Given the description of an element on the screen output the (x, y) to click on. 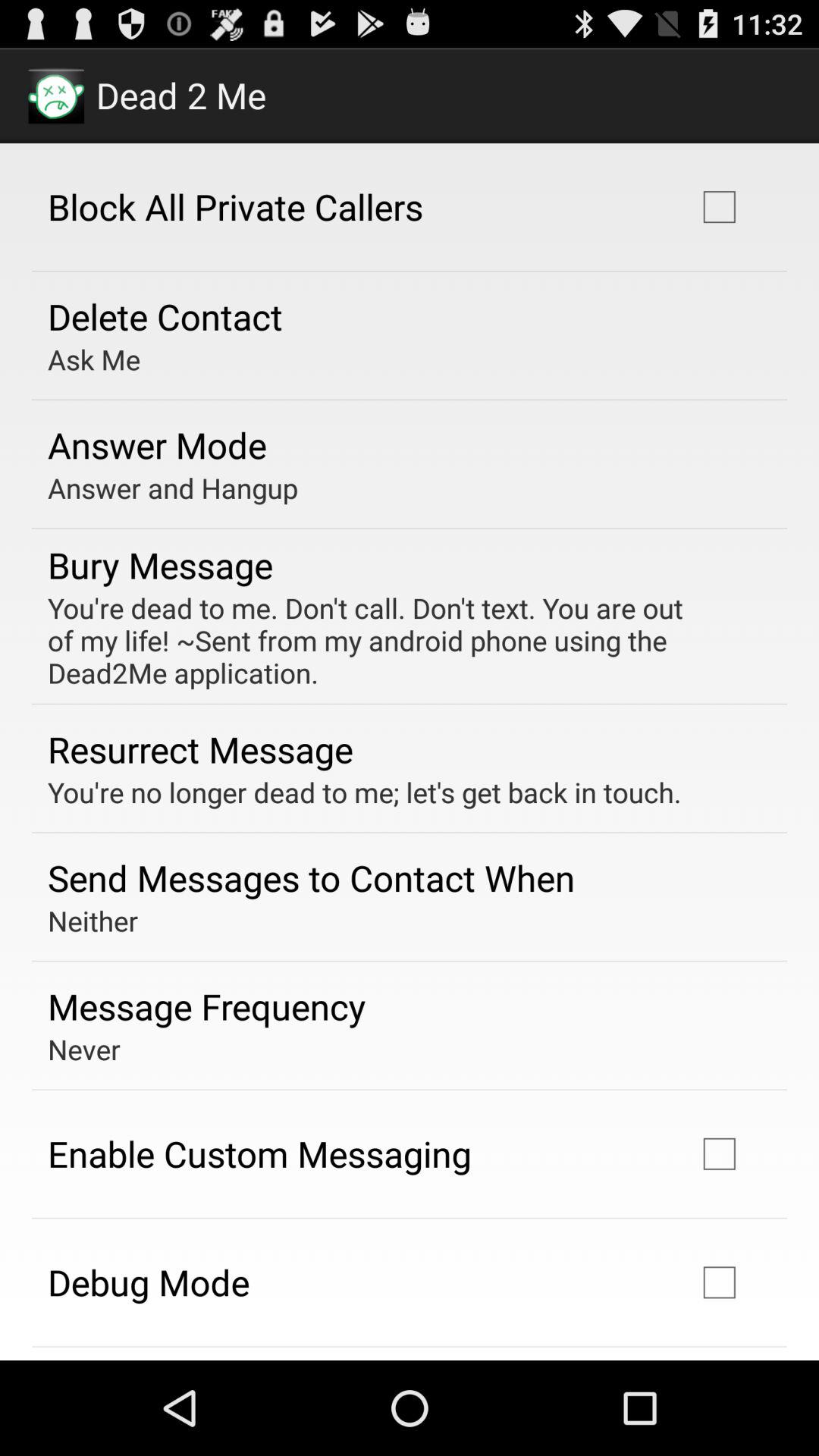
flip until the bury message app (160, 564)
